Given the description of an element on the screen output the (x, y) to click on. 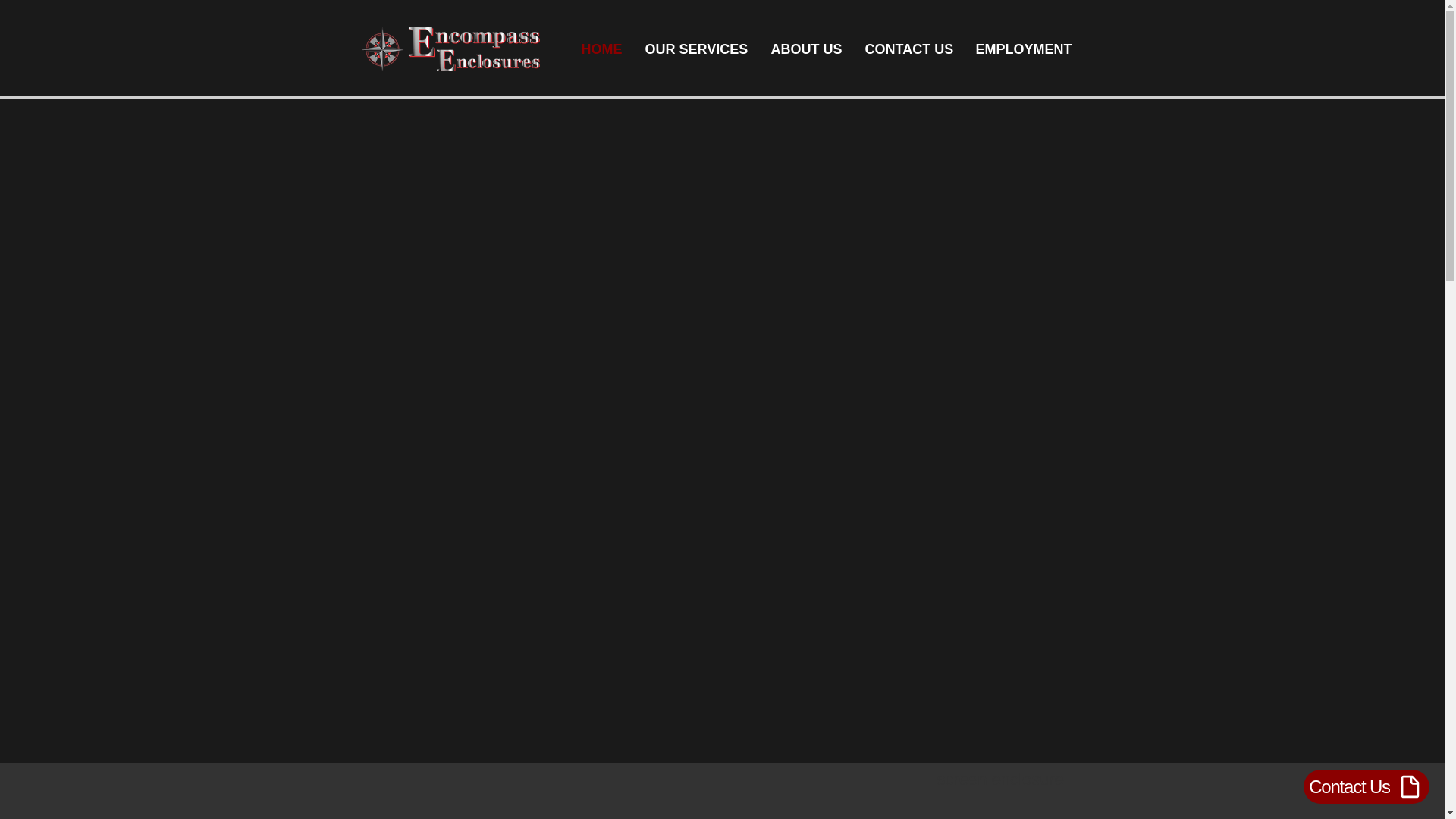
HOME (601, 49)
OUR SERVICES (696, 49)
EMPLOYMENT (1022, 49)
CONTACT US (908, 49)
Contact Us (1366, 786)
ABOUT US (806, 49)
